Given the description of an element on the screen output the (x, y) to click on. 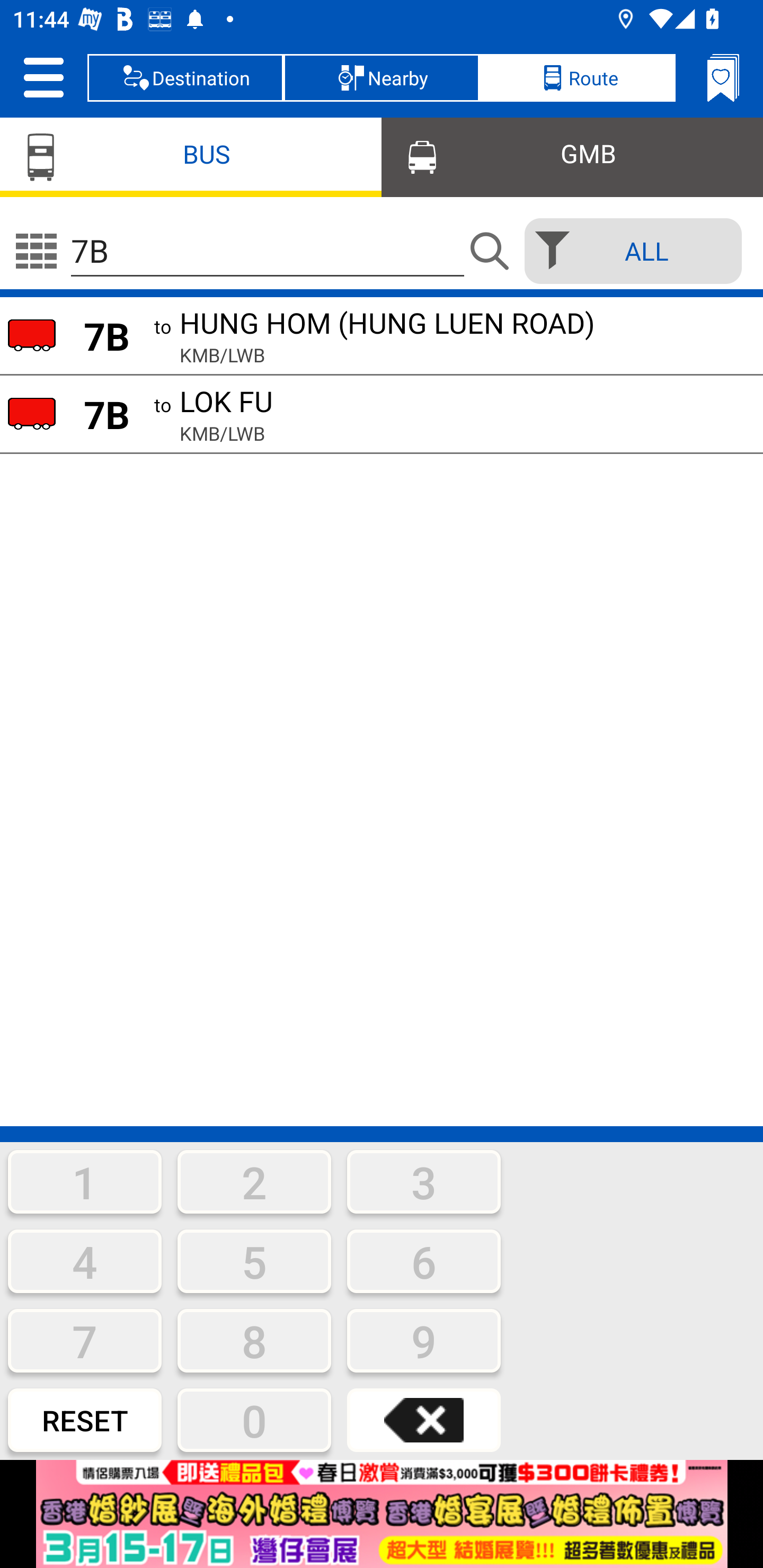
Destination (185, 77)
Nearby (381, 77)
Route, selected (577, 77)
Bookmarks (723, 77)
Setting (43, 77)
BUS, selected (190, 155)
GMB (572, 155)
selected ALL (627, 250)
no (36, 250)
1 (84, 1181)
2 (254, 1181)
3 (423, 1181)
4 (84, 1261)
5 (254, 1261)
6 (423, 1261)
7 (84, 1340)
8 (254, 1340)
9 (423, 1340)
RESET (84, 1419)
0 (254, 1419)
index (381, 1513)
